Given the description of an element on the screen output the (x, y) to click on. 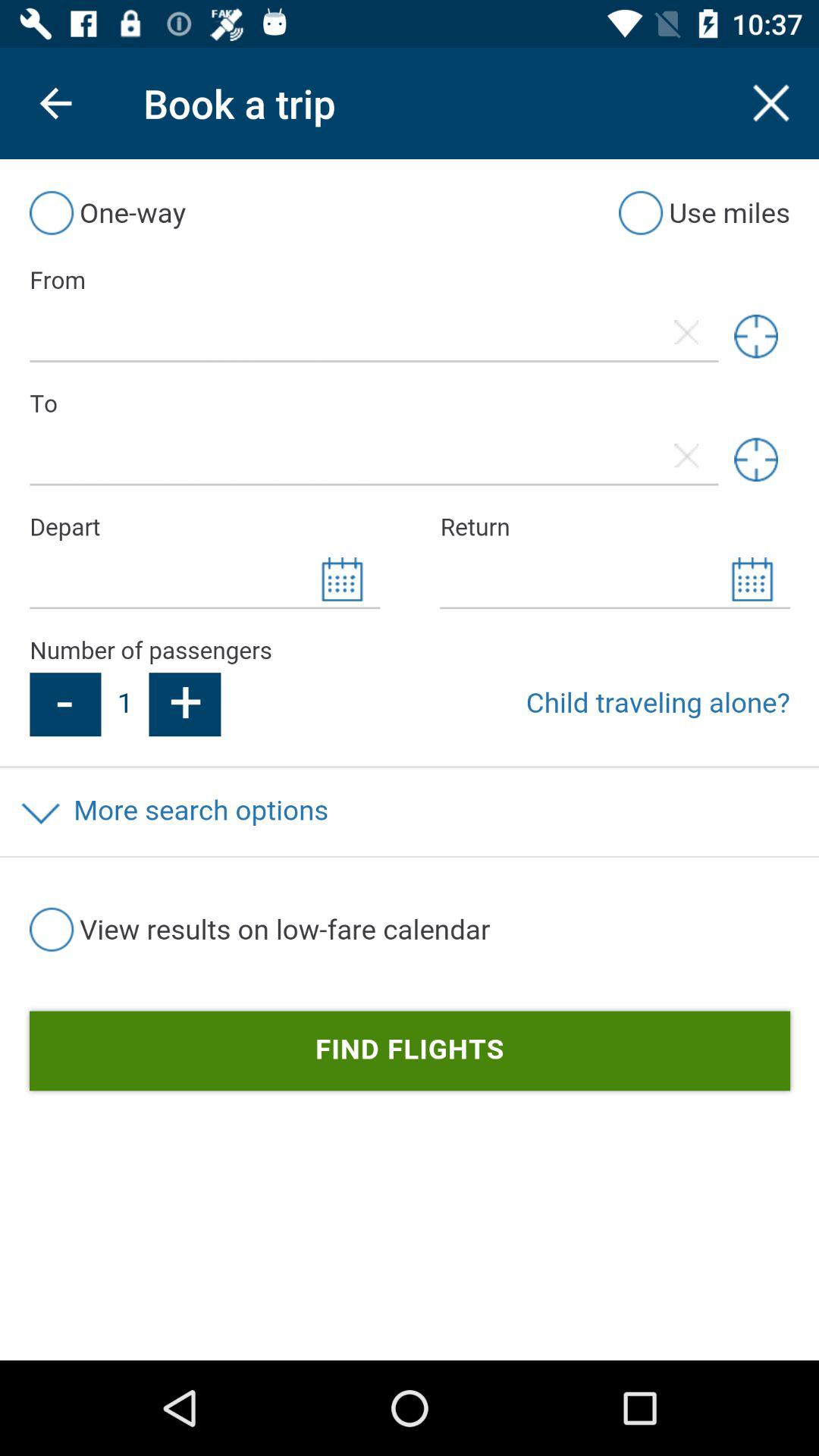
enter the journey details (409, 759)
